Given the description of an element on the screen output the (x, y) to click on. 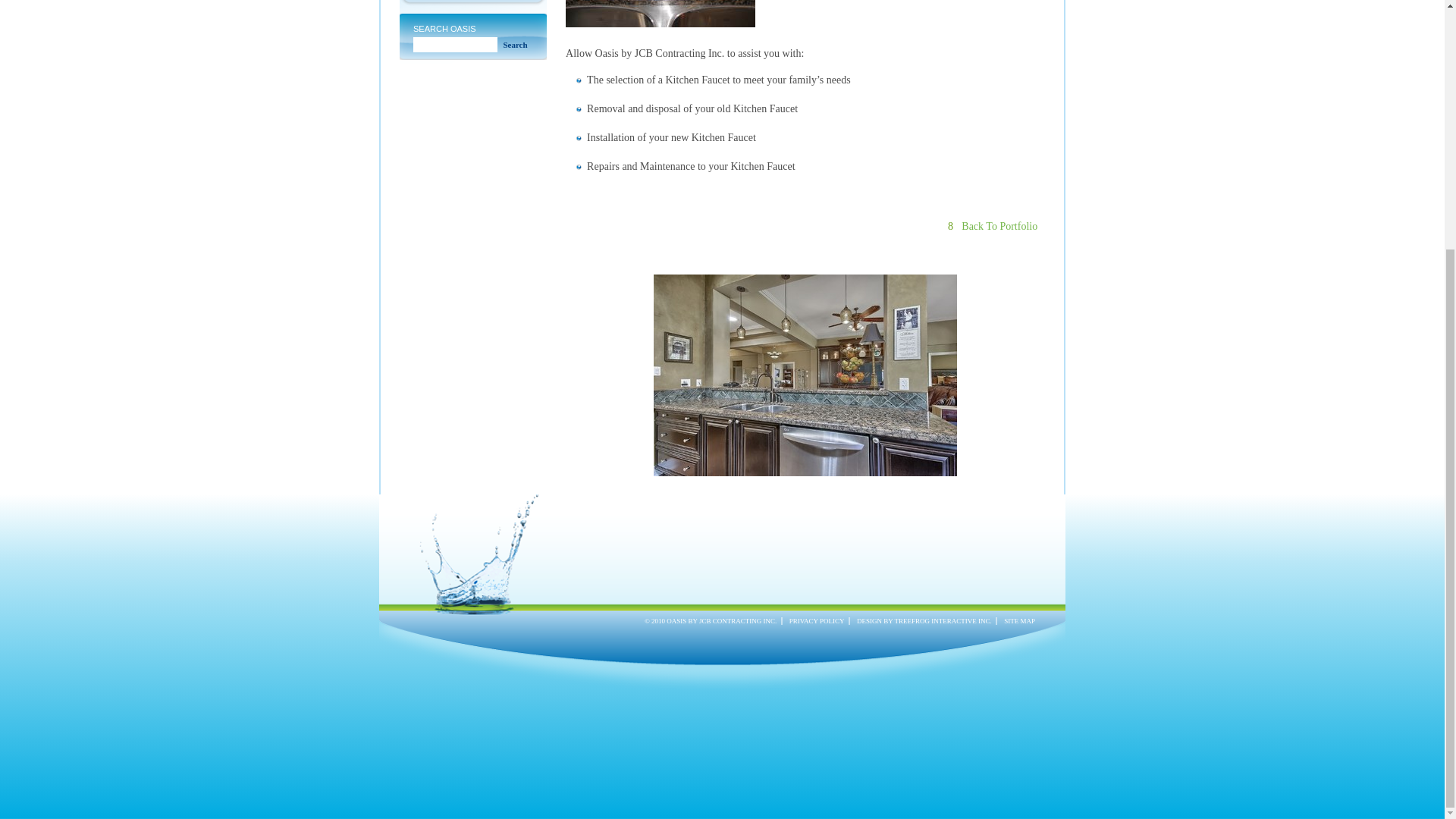
Search (514, 44)
Search (514, 44)
two (472, 2)
